Given the description of an element on the screen output the (x, y) to click on. 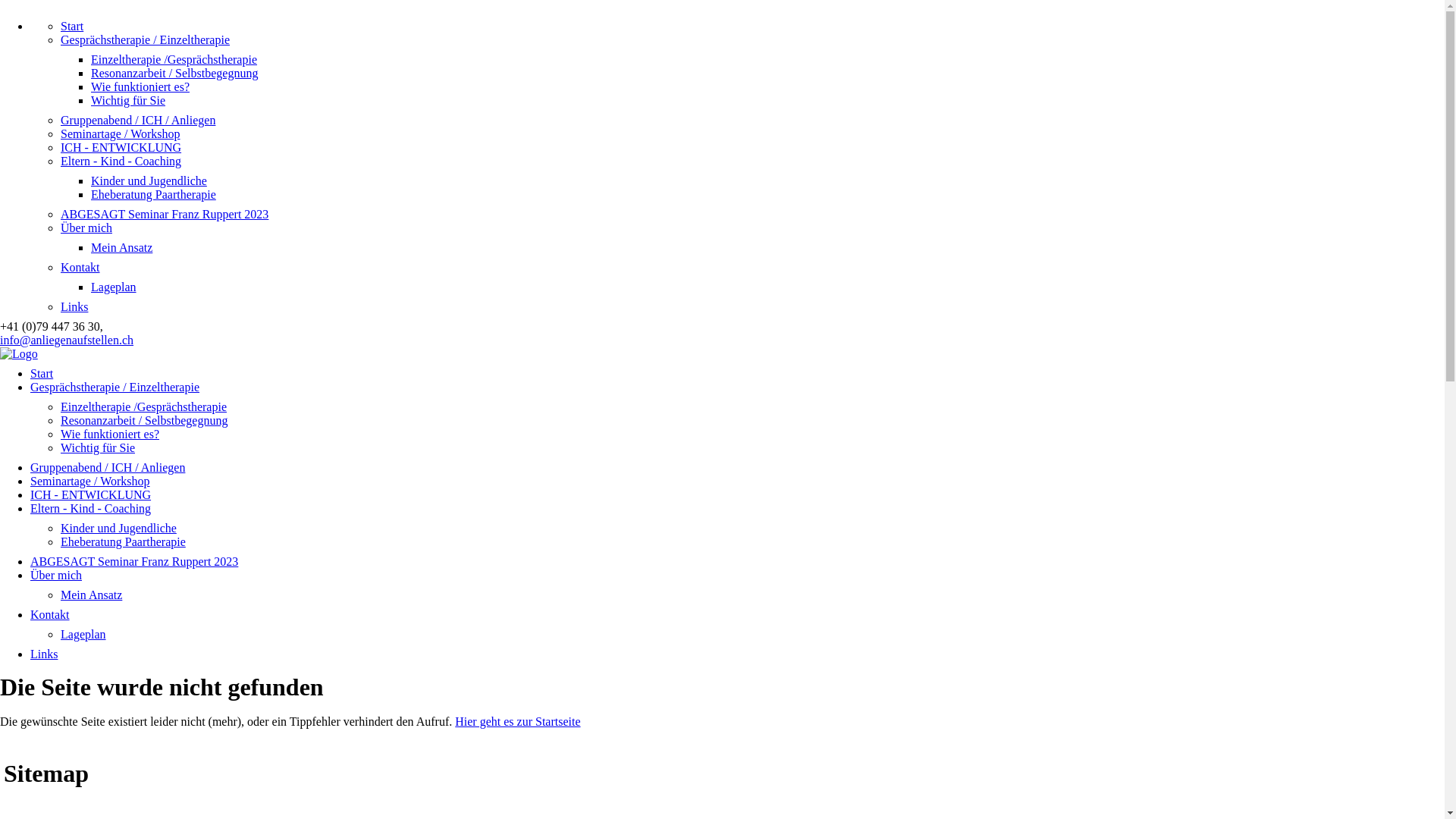
Wie funktioniert es? Element type: text (140, 86)
Kinder und Jugendliche Element type: text (149, 180)
Resonanzarbeit / Selbstbegegnung Element type: text (174, 72)
Eltern - Kind - Coaching Element type: text (90, 508)
Hier geht es zur Startseite Element type: text (517, 721)
Kontakt Element type: text (49, 614)
Start Element type: text (71, 25)
Wie funktioniert es? Element type: text (109, 433)
Resonanzarbeit / Selbstbegegnung Element type: text (143, 420)
Kontakt Element type: text (80, 266)
Gruppenabend / ICH / Anliegen Element type: text (137, 119)
Mein Ansatz Element type: text (121, 247)
Eltern - Kind - Coaching Element type: text (120, 160)
Lageplan Element type: text (83, 633)
ABGESAGT Seminar Franz Ruppert 2023 Element type: text (164, 213)
Eheberatung Paartherapie Element type: text (122, 541)
ICH - ENTWICKLUNG Element type: text (90, 494)
Seminartage / Workshop Element type: text (120, 133)
info@anliegenaufstellen.ch Element type: text (66, 339)
Start Element type: text (41, 373)
Gruppenabend / ICH / Anliegen Element type: text (107, 467)
Seminartage / Workshop Element type: text (90, 480)
ICH - ENTWICKLUNG Element type: text (120, 147)
Mein Ansatz Element type: text (91, 594)
Links Element type: text (43, 653)
ABGESAGT Seminar Franz Ruppert 2023 Element type: text (134, 561)
Lageplan Element type: text (113, 286)
Links Element type: text (73, 306)
Kinder und Jugendliche Element type: text (118, 527)
Eheberatung Paartherapie Element type: text (153, 194)
